Given the description of an element on the screen output the (x, y) to click on. 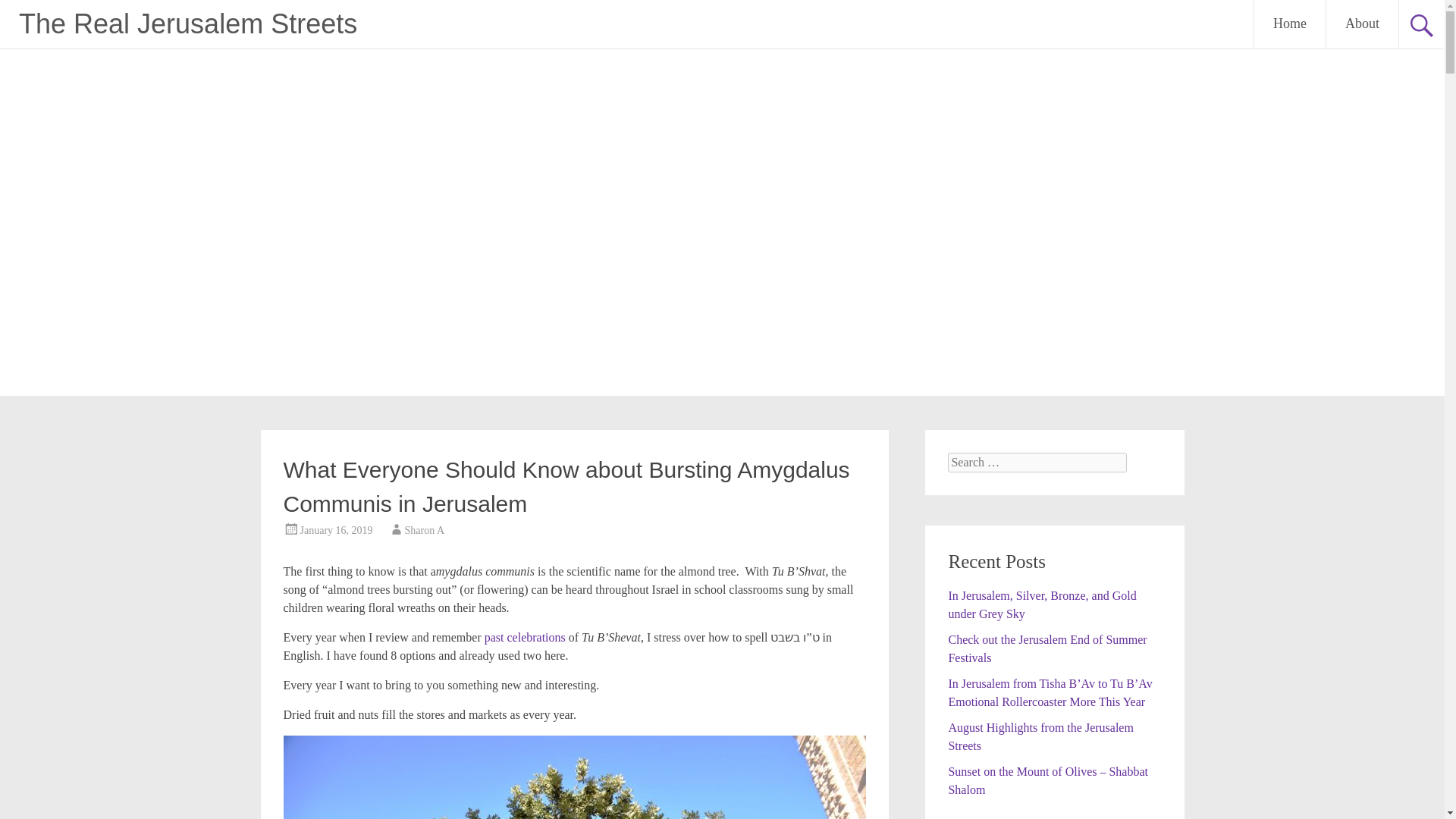
Sharon A (424, 530)
The Real Jerusalem Streets (187, 23)
About (1361, 23)
past celebrations (525, 636)
Home (1288, 23)
The Real Jerusalem Streets (187, 23)
January 16, 2019 (335, 530)
